Given the description of an element on the screen output the (x, y) to click on. 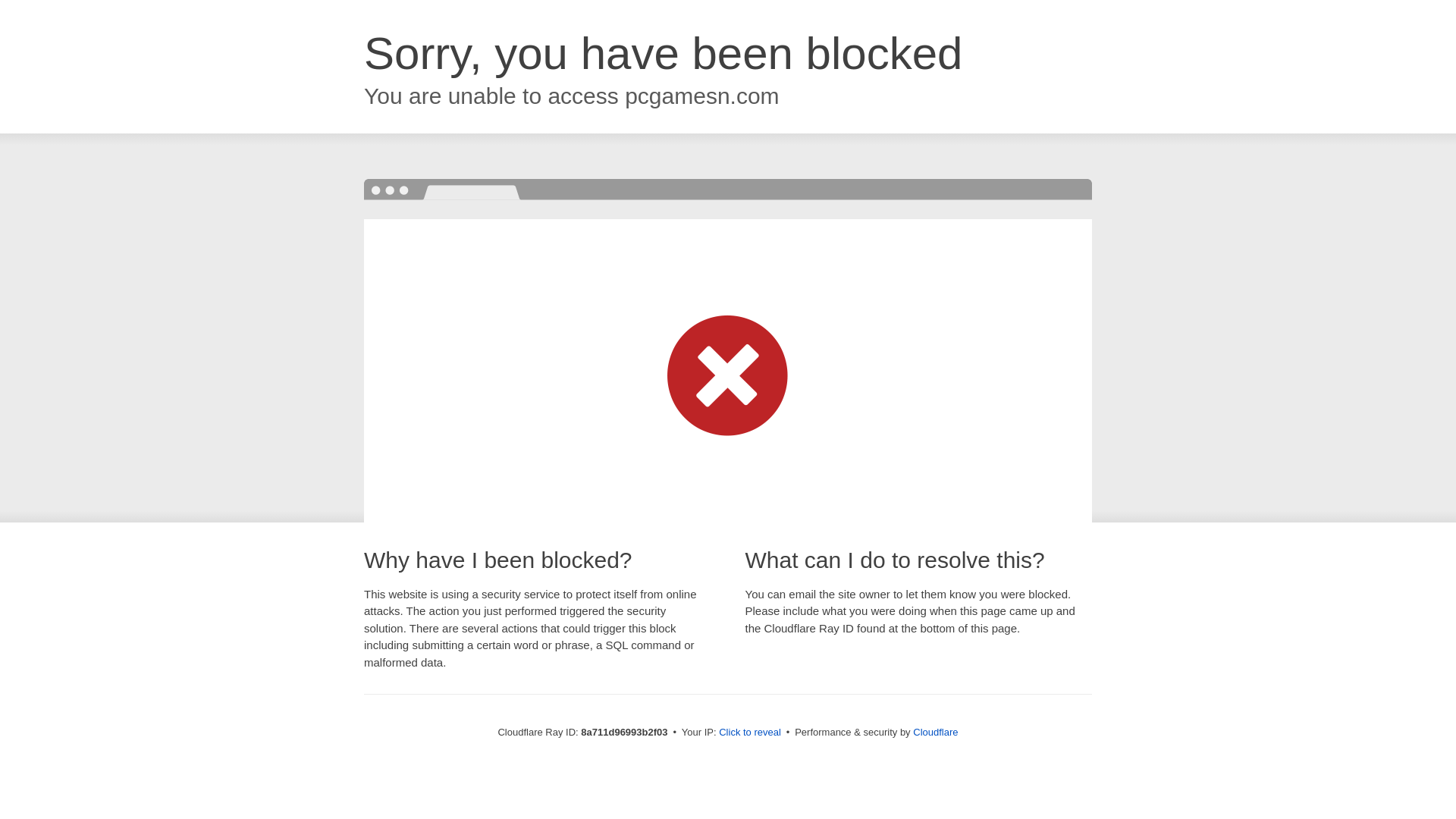
Cloudflare (935, 731)
Click to reveal (749, 732)
